Given the description of an element on the screen output the (x, y) to click on. 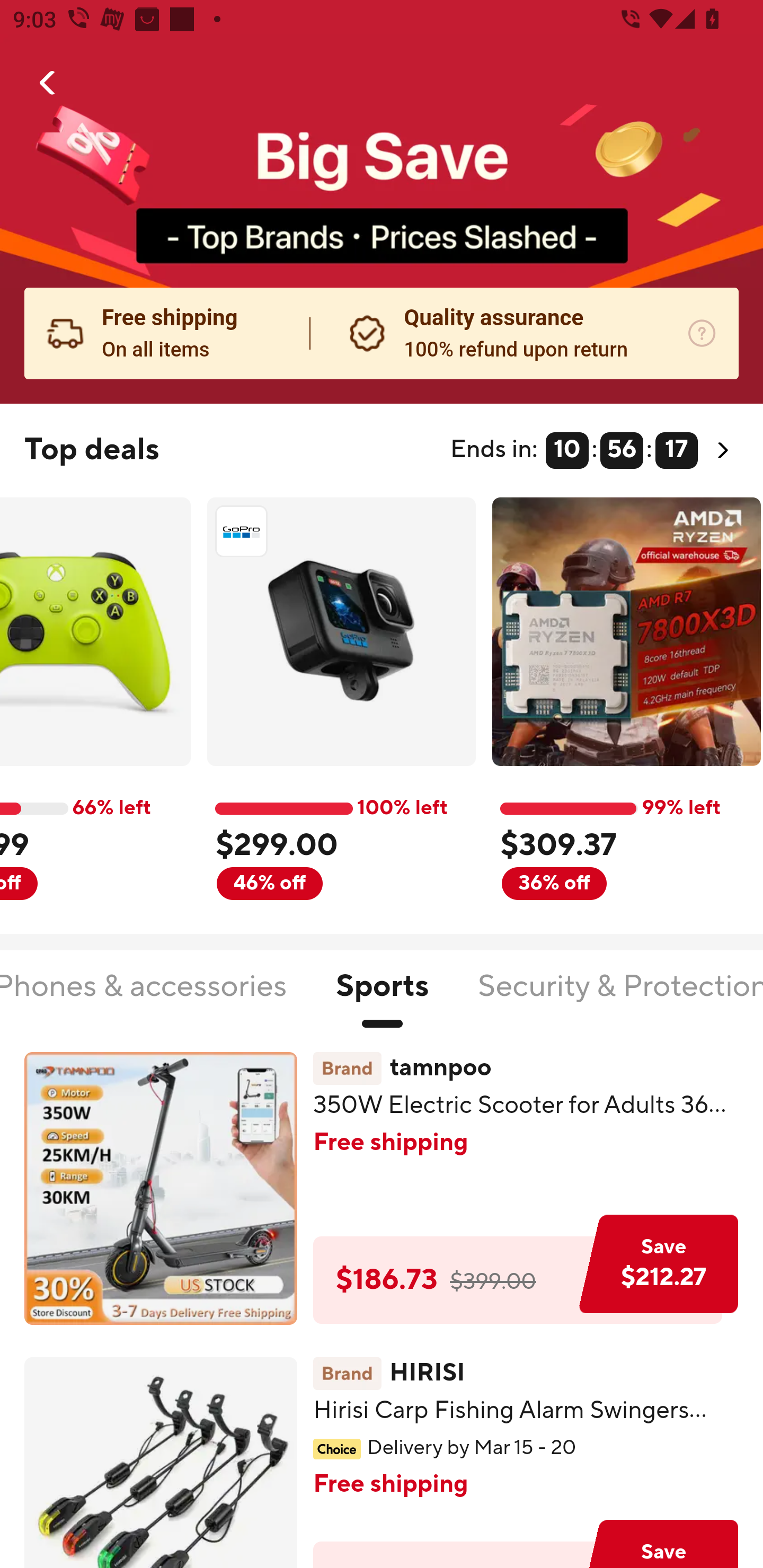
 (48, 82)
Phones & accessories (143, 996)
Sports (381, 996)
Security & Protection (619, 996)
